Given the description of an element on the screen output the (x, y) to click on. 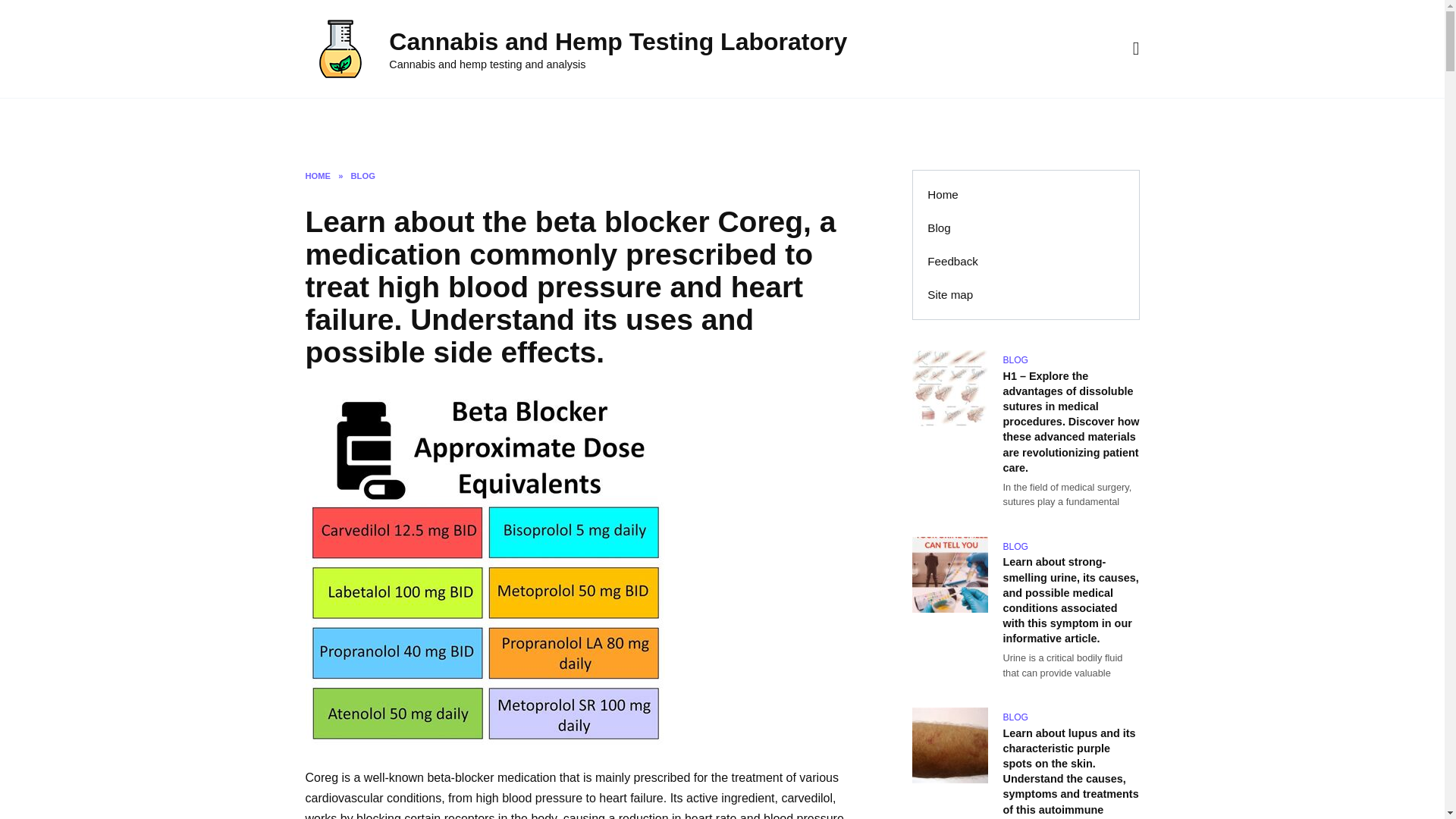
Home (943, 194)
Feedback (442, 122)
Cannabis and Hemp Testing Laboratory (617, 41)
Blog (939, 227)
Site map (518, 122)
Site map (950, 295)
Home (325, 122)
BLOG (362, 175)
Feedback (952, 261)
Blog (378, 122)
HOME (317, 175)
